Given the description of an element on the screen output the (x, y) to click on. 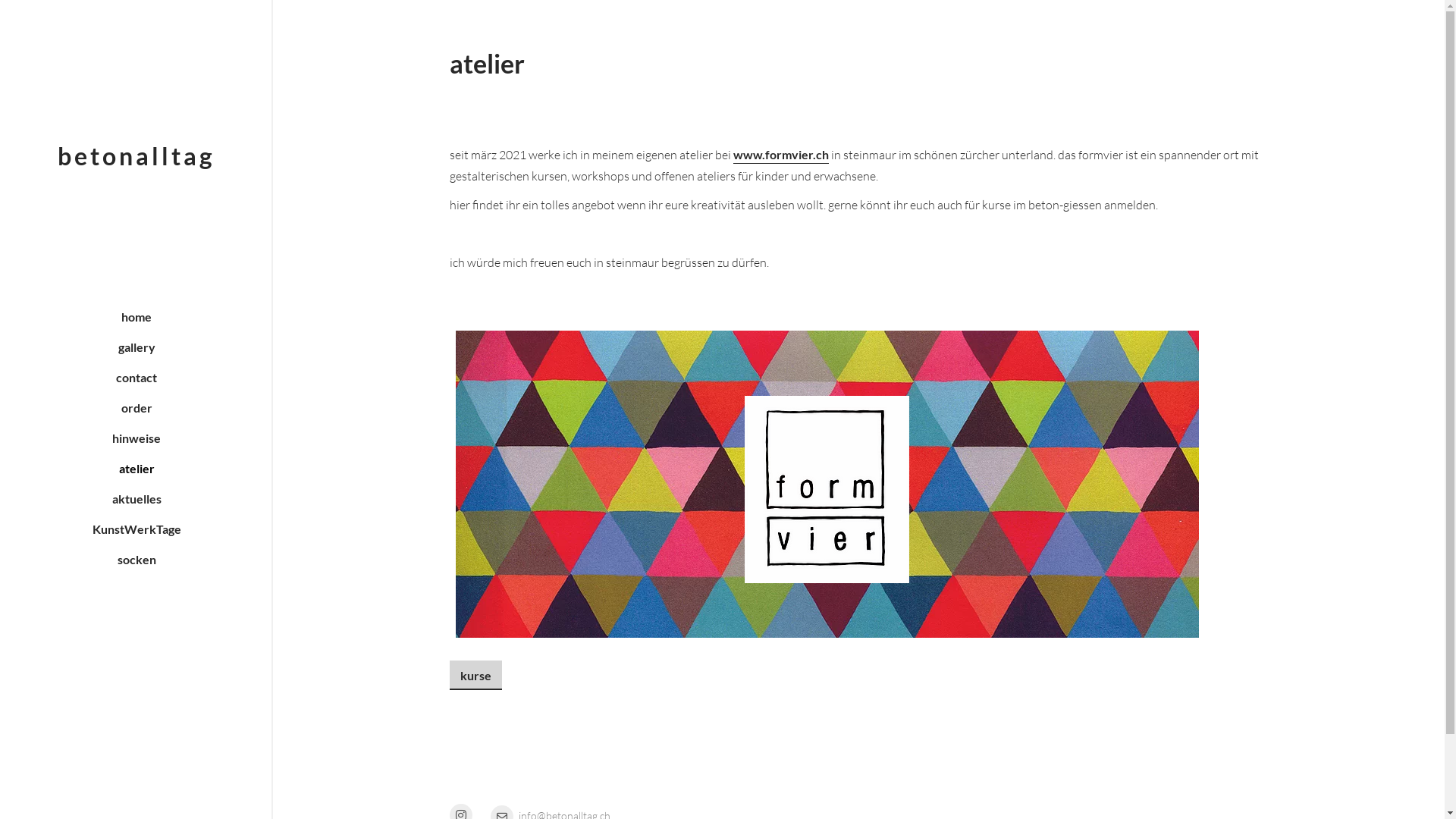
www.formvier.ch Element type: text (780, 154)
contact Element type: text (136, 377)
atelier Element type: text (136, 468)
KunstWerkTage Element type: text (136, 529)
home Element type: text (136, 316)
socken Element type: text (136, 559)
betonalltag Element type: text (136, 155)
kurse Element type: text (474, 675)
hinweise Element type: text (136, 438)
order Element type: text (136, 407)
aktuelles Element type: text (136, 498)
gallery Element type: text (136, 347)
